Given the description of an element on the screen output the (x, y) to click on. 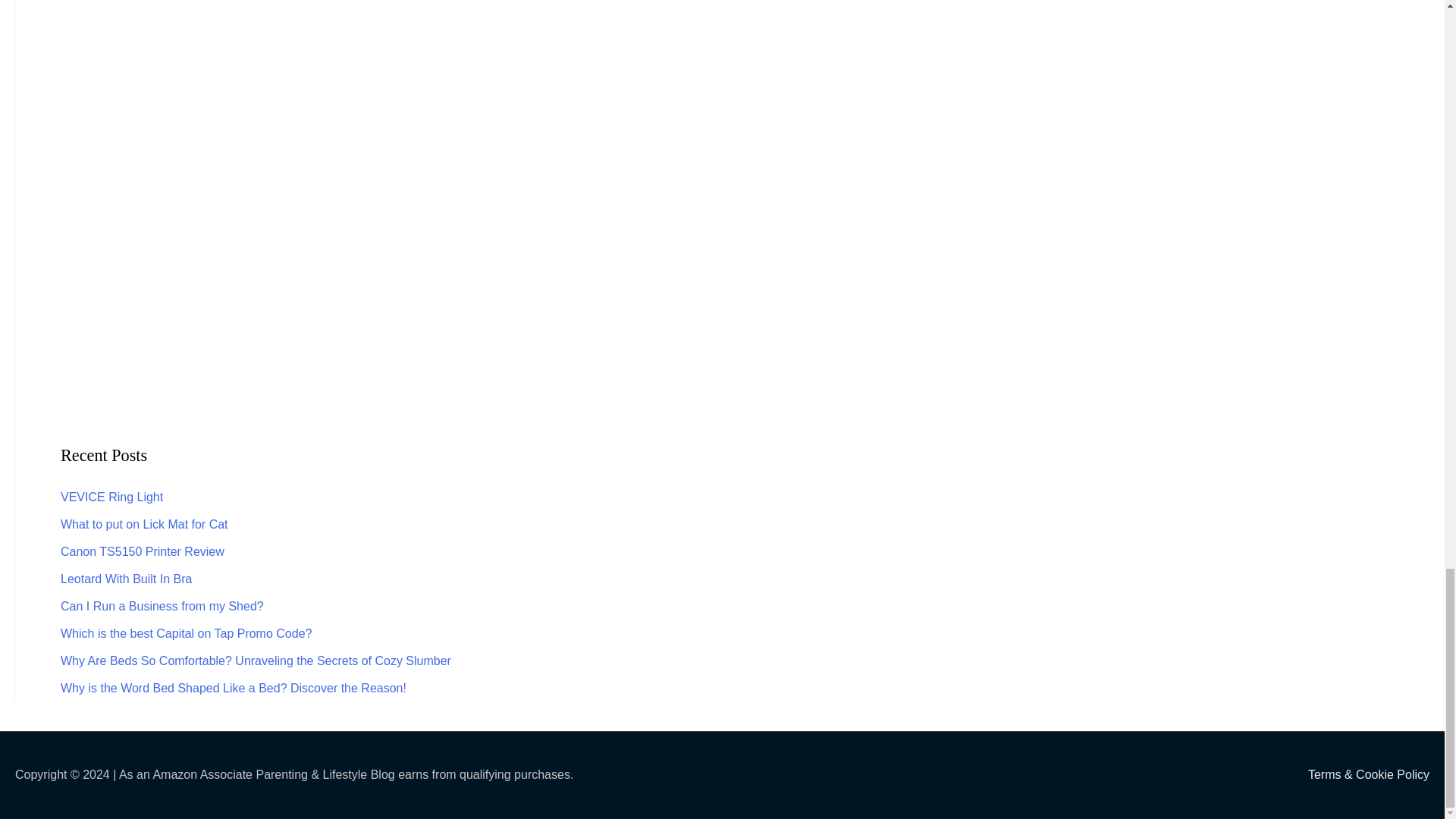
Can I Run a Business from my Shed? (162, 605)
VEVICE Ring Light (112, 496)
Canon TS5150 Printer Review (142, 551)
What to put on Lick Mat for Cat (144, 523)
Leotard With Built In Bra (126, 578)
